Given the description of an element on the screen output the (x, y) to click on. 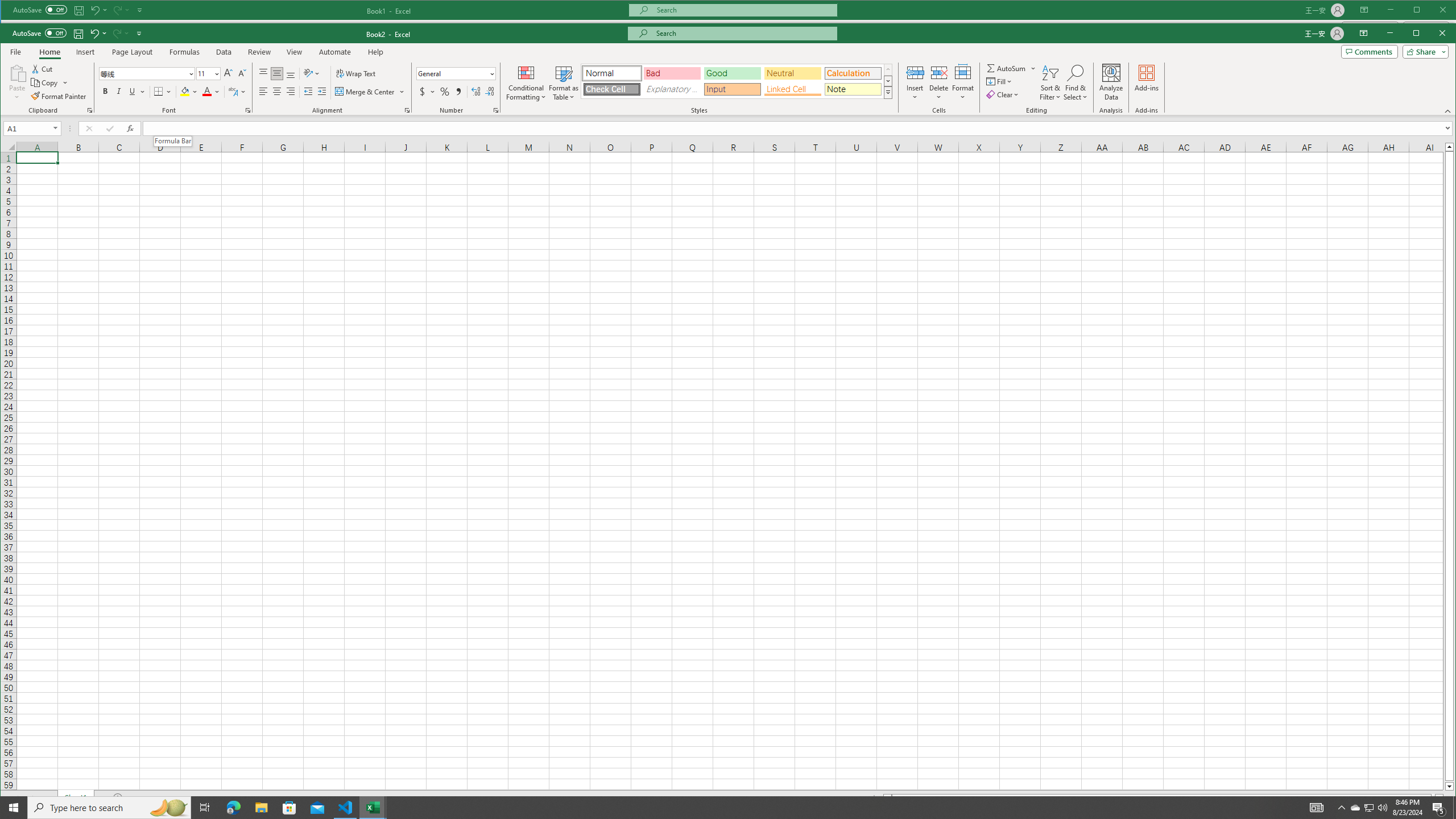
Input (731, 89)
Scroll Right (34, 797)
Align Right (290, 91)
Copy (45, 82)
Top Align (263, 73)
Home (49, 51)
Cut (42, 68)
AutoSave (38, 33)
Format Painter (59, 96)
Number Format (456, 73)
Delete (938, 82)
Decrease Decimal (489, 91)
